Given the description of an element on the screen output the (x, y) to click on. 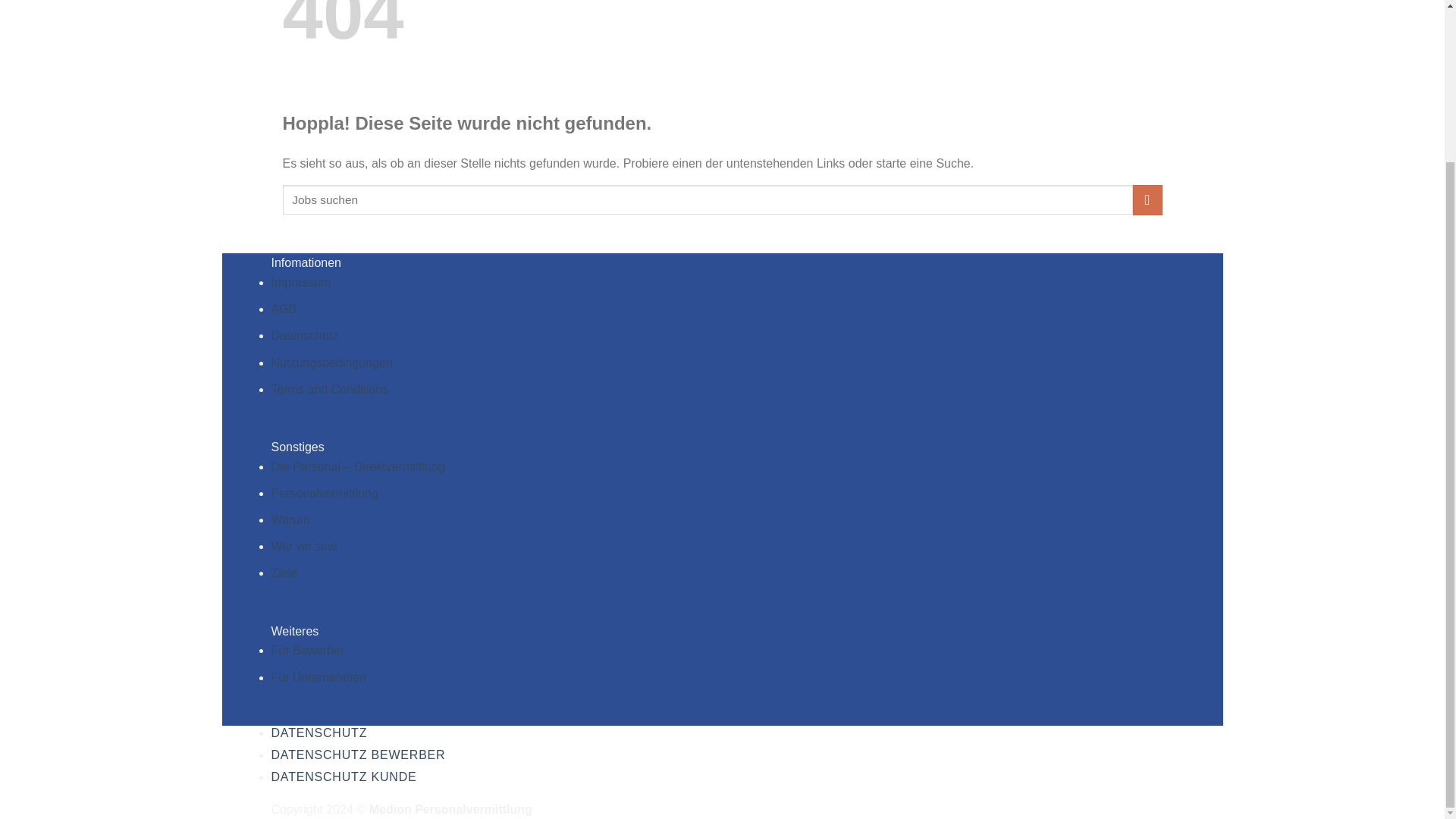
Nutzungsbedingungen (331, 362)
Impressum (300, 282)
Terms and Conditions (329, 389)
Warum (290, 519)
DATENSCHUTZ BEWERBER (357, 754)
DATENSCHUTZ KUNDE (343, 776)
Datenschutz (304, 335)
Personalvermittlung (324, 492)
DATENSCHUTZ (319, 732)
Wer wir sind (303, 545)
